Given the description of an element on the screen output the (x, y) to click on. 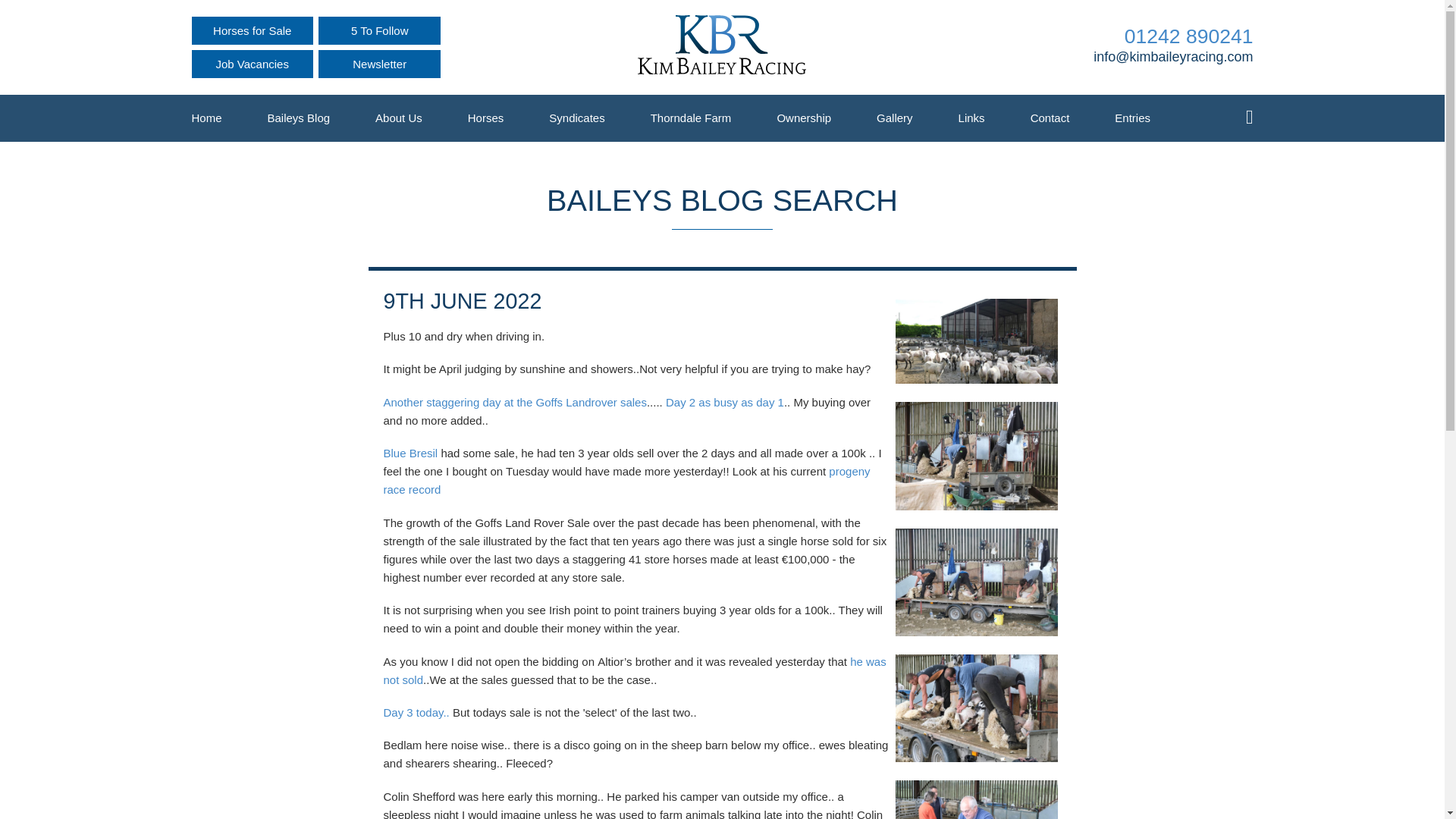
Horses for Sale (251, 30)
5 To Follow (378, 30)
Job Vacancies (251, 63)
Newsletter (378, 63)
